Given the description of an element on the screen output the (x, y) to click on. 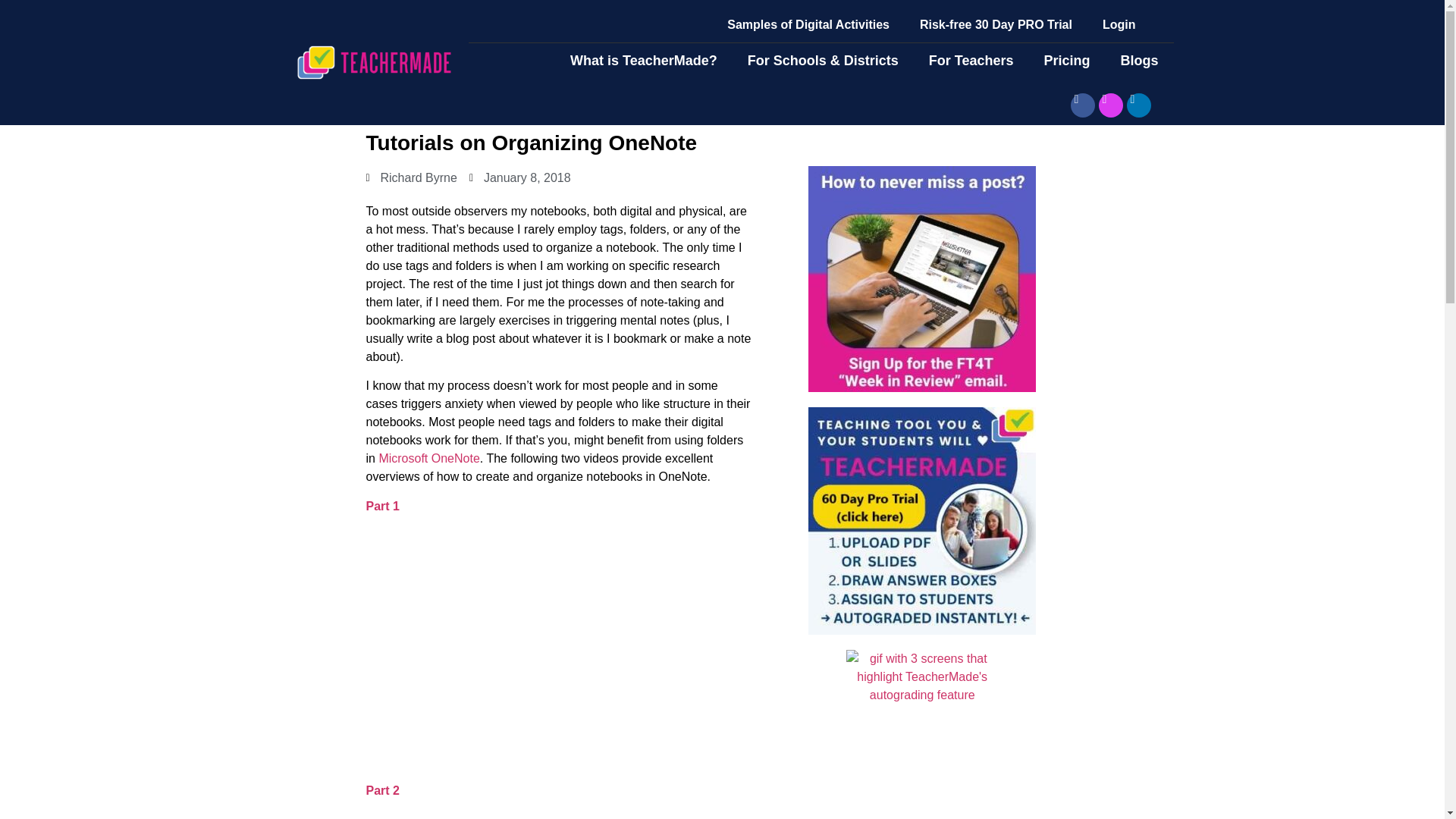
For Teachers (971, 60)
What is TeacherMade? (643, 60)
Login (1119, 24)
Pricing (1066, 60)
Samples of Digital Activities (807, 24)
Risk-free 30 Day PRO Trial (995, 24)
Blogs (1139, 60)
